Given the description of an element on the screen output the (x, y) to click on. 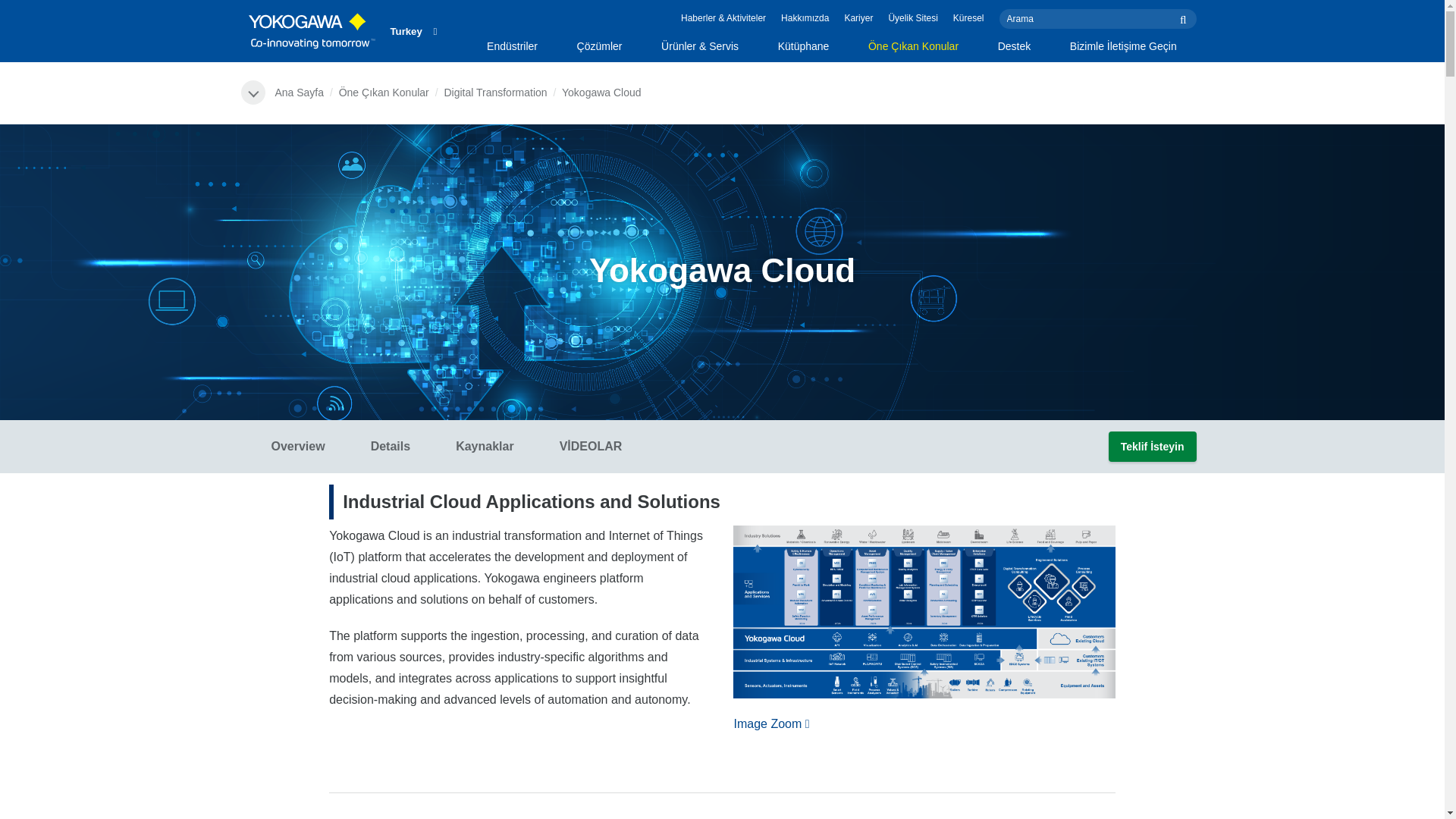
submit (1184, 18)
Arama (1097, 18)
Destek (1013, 49)
Turkey    (413, 30)
Kariyer (858, 18)
